Given the description of an element on the screen output the (x, y) to click on. 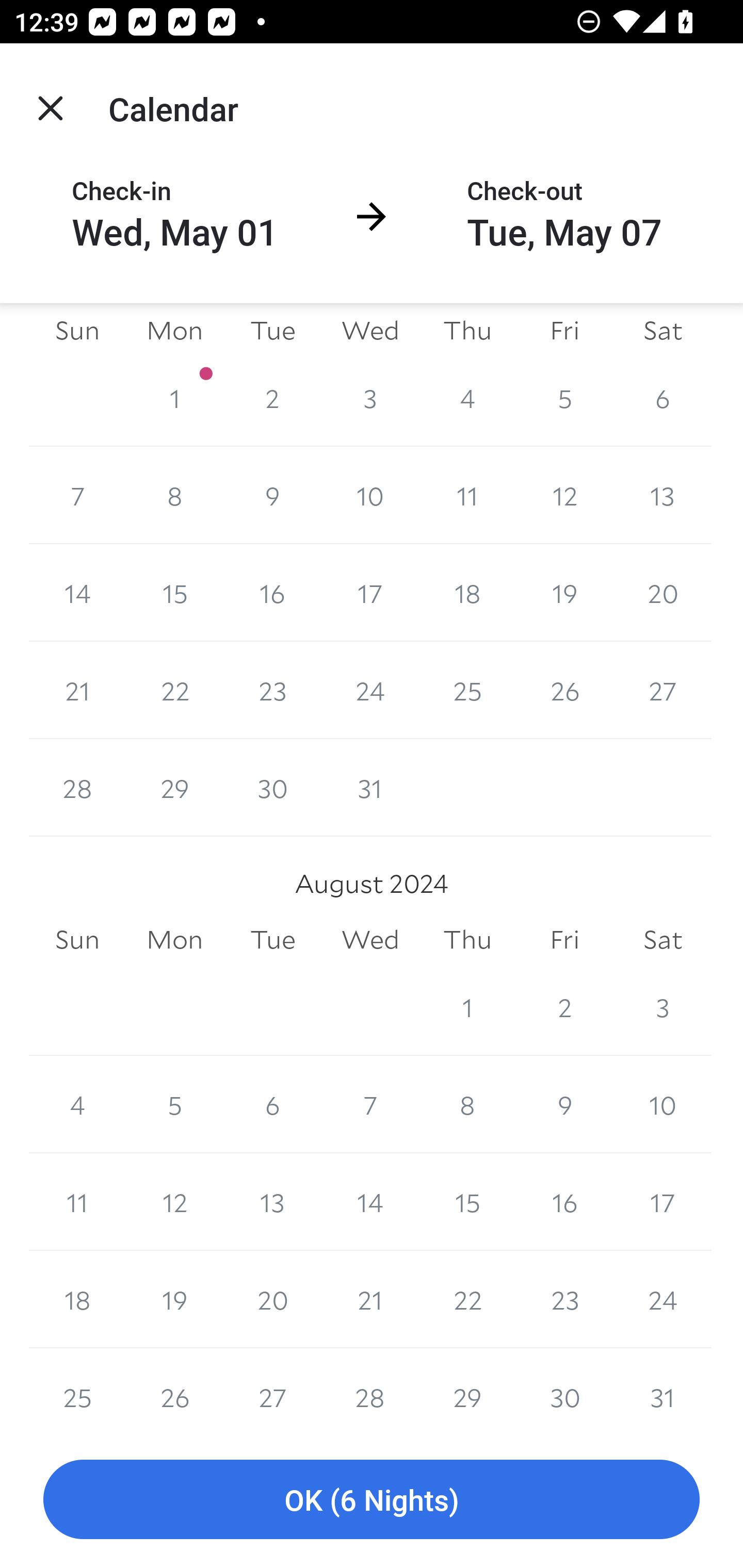
Sun (77, 330)
Mon (174, 330)
Tue (272, 330)
Wed (370, 330)
Thu (467, 330)
Fri (564, 330)
Sat (662, 330)
1 1 July 2024 (174, 397)
2 2 July 2024 (272, 397)
3 3 July 2024 (370, 397)
4 4 July 2024 (467, 397)
5 5 July 2024 (564, 397)
6 6 July 2024 (662, 397)
7 7 July 2024 (77, 495)
8 8 July 2024 (174, 495)
9 9 July 2024 (272, 495)
10 10 July 2024 (370, 495)
11 11 July 2024 (467, 495)
12 12 July 2024 (564, 495)
13 13 July 2024 (662, 495)
14 14 July 2024 (77, 592)
15 15 July 2024 (174, 592)
16 16 July 2024 (272, 592)
17 17 July 2024 (370, 592)
18 18 July 2024 (467, 592)
19 19 July 2024 (564, 592)
20 20 July 2024 (662, 592)
21 21 July 2024 (77, 689)
22 22 July 2024 (174, 689)
23 23 July 2024 (272, 689)
24 24 July 2024 (370, 689)
25 25 July 2024 (467, 689)
26 26 July 2024 (564, 689)
27 27 July 2024 (662, 689)
28 28 July 2024 (77, 787)
29 29 July 2024 (174, 787)
30 30 July 2024 (272, 787)
31 31 July 2024 (370, 787)
Sun (77, 939)
Mon (174, 939)
Tue (272, 939)
Wed (370, 939)
Thu (467, 939)
Fri (564, 939)
Sat (662, 939)
1 1 August 2024 (467, 1006)
2 2 August 2024 (564, 1006)
3 3 August 2024 (662, 1006)
4 4 August 2024 (77, 1104)
5 5 August 2024 (174, 1104)
6 6 August 2024 (272, 1104)
7 7 August 2024 (370, 1104)
8 8 August 2024 (467, 1104)
9 9 August 2024 (564, 1104)
10 10 August 2024 (662, 1104)
11 11 August 2024 (77, 1202)
12 12 August 2024 (174, 1202)
13 13 August 2024 (272, 1202)
14 14 August 2024 (370, 1202)
15 15 August 2024 (467, 1202)
16 16 August 2024 (564, 1202)
17 17 August 2024 (662, 1202)
18 18 August 2024 (77, 1299)
19 19 August 2024 (174, 1299)
20 20 August 2024 (272, 1299)
21 21 August 2024 (370, 1299)
22 22 August 2024 (467, 1299)
23 23 August 2024 (564, 1299)
24 24 August 2024 (662, 1299)
25 25 August 2024 (77, 1389)
26 26 August 2024 (174, 1389)
27 27 August 2024 (272, 1389)
28 28 August 2024 (370, 1389)
29 29 August 2024 (467, 1389)
30 30 August 2024 (564, 1389)
31 31 August 2024 (662, 1389)
OK (6 Nights) (371, 1499)
